Given the description of an element on the screen output the (x, y) to click on. 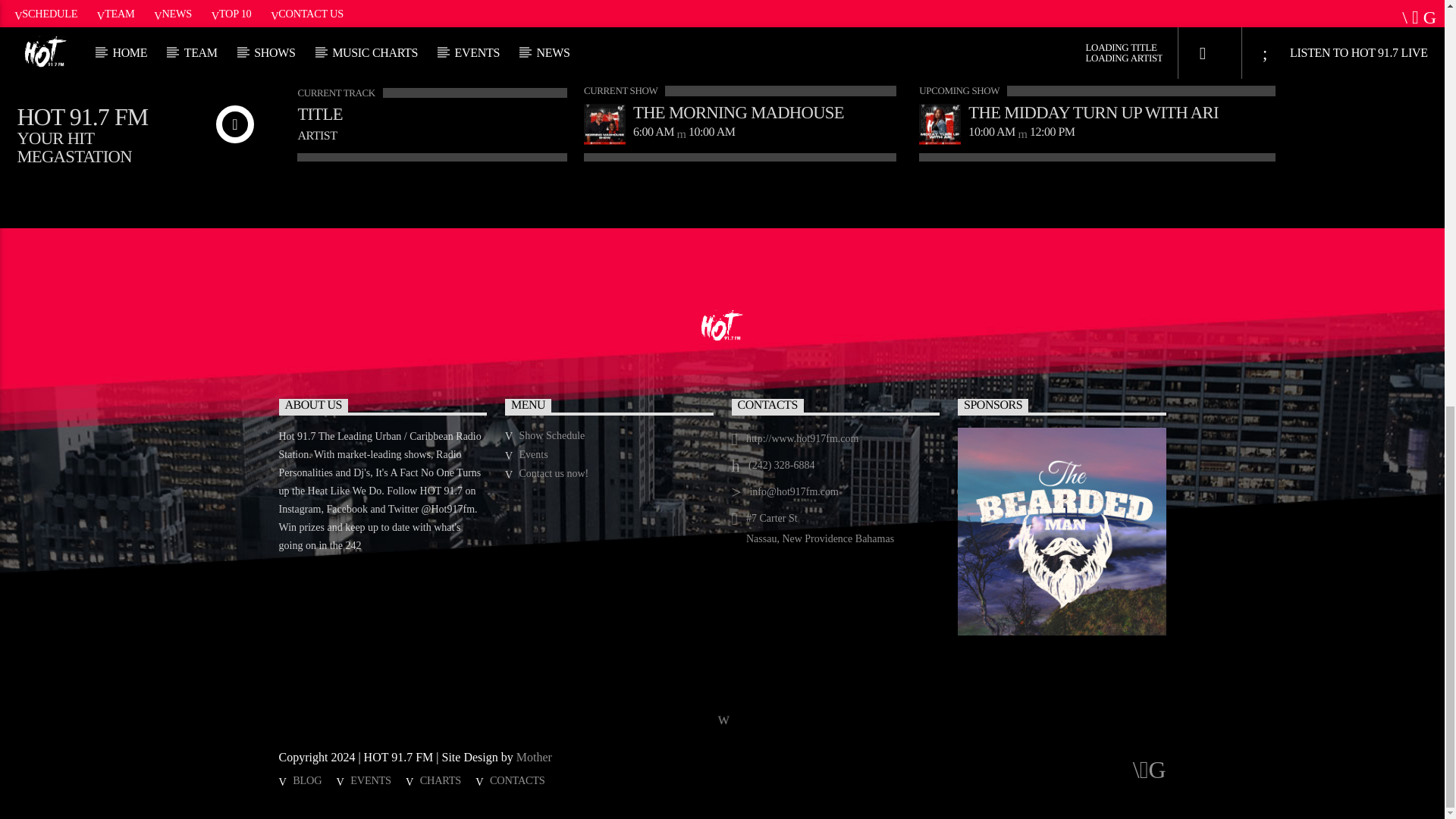
Search (1054, 7)
